Given the description of an element on the screen output the (x, y) to click on. 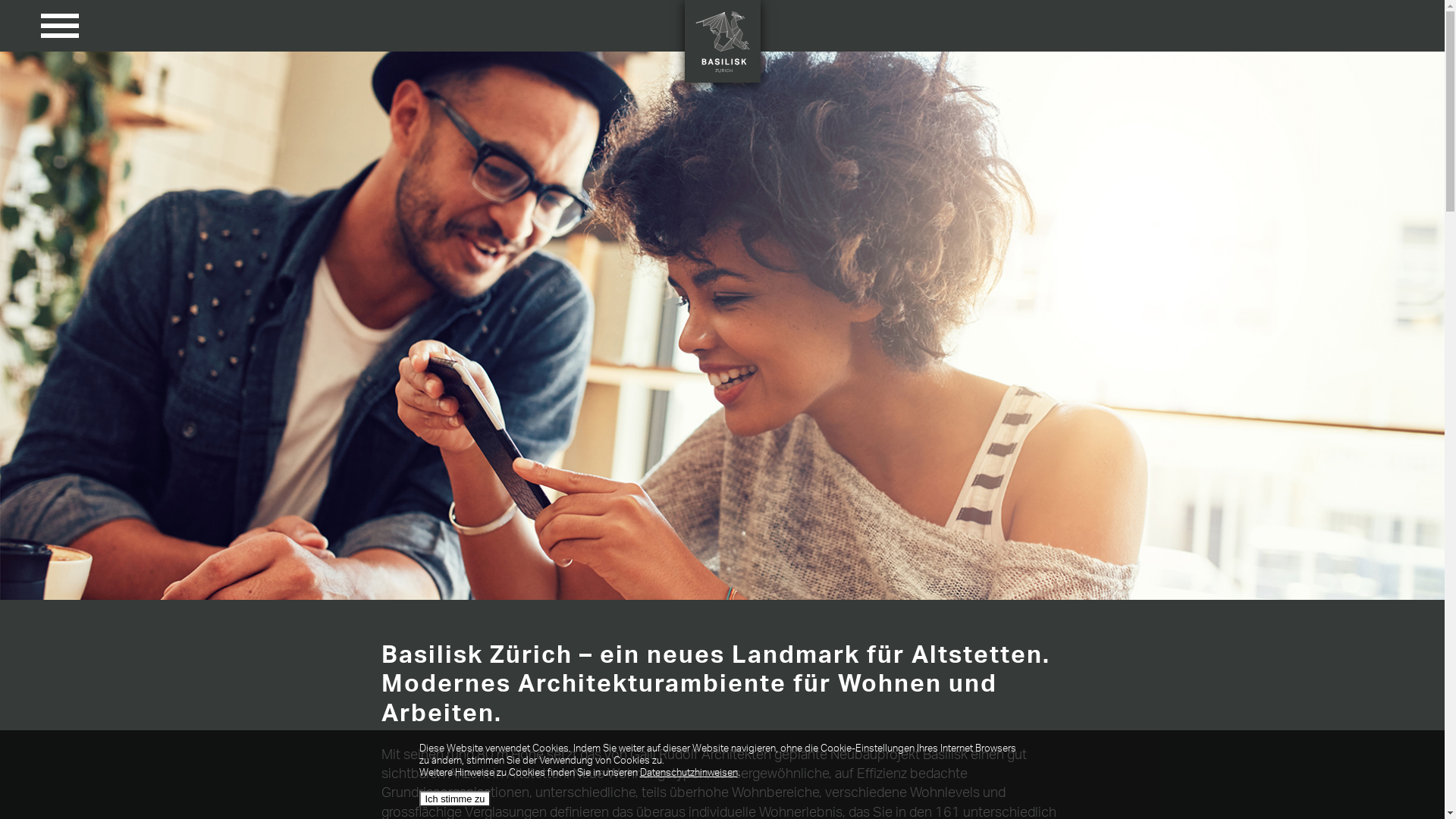
vermarktung@csl-immobilien.ch Element type: text (777, 92)
www.csl-immobilien.ch Element type: text (915, 92)
Ich stimme zu Element type: text (460, 798)
Datenschutz / Impressum Element type: text (1362, 92)
Datenschutzhinweisen Element type: text (694, 772)
